Given the description of an element on the screen output the (x, y) to click on. 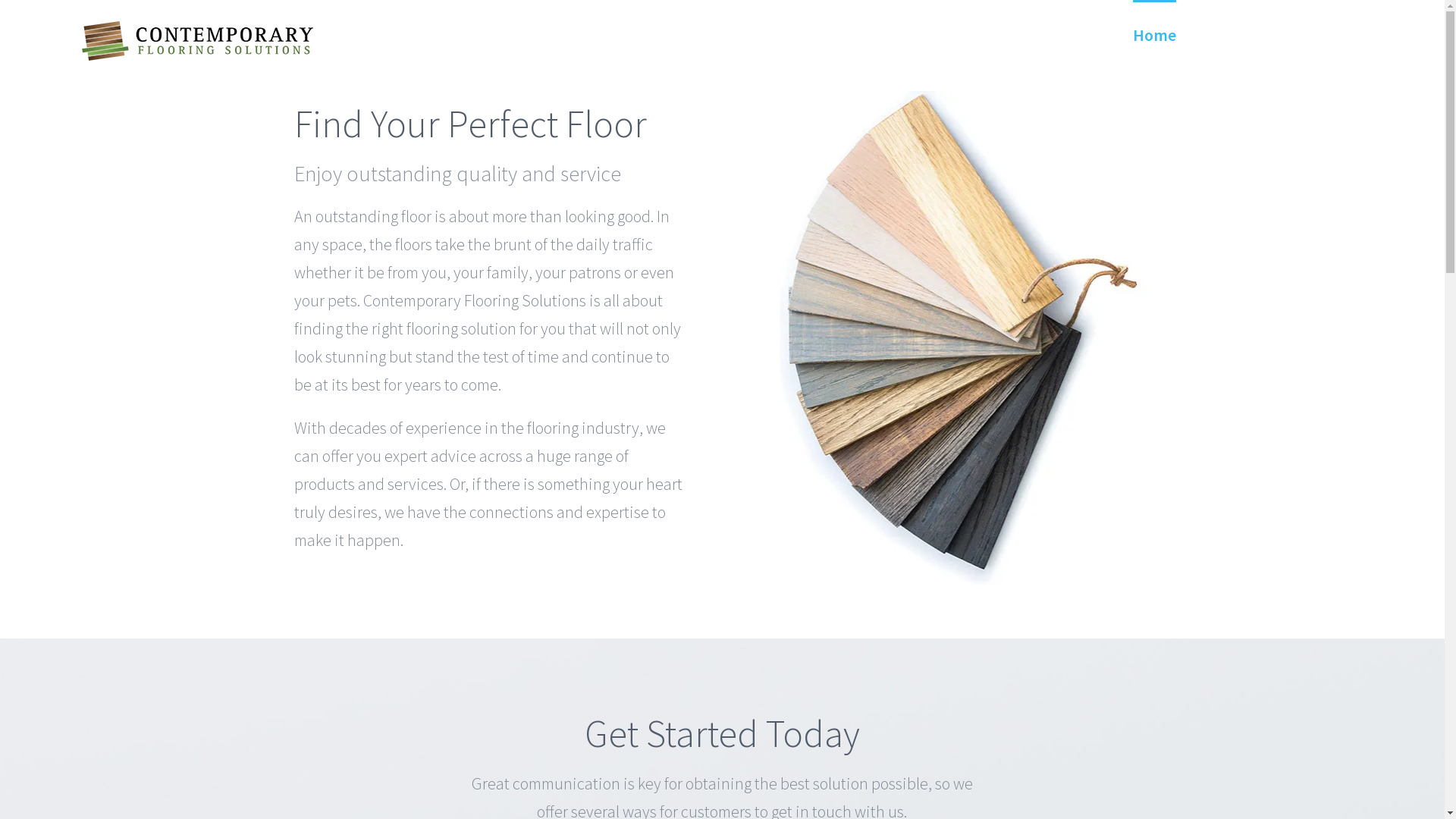
Contact Element type: text (1231, 34)
Home Element type: text (1154, 34)
wood-swatch-resize Element type: hover (952, 338)
Why Us Element type: text (1312, 34)
